Given the description of an element on the screen output the (x, y) to click on. 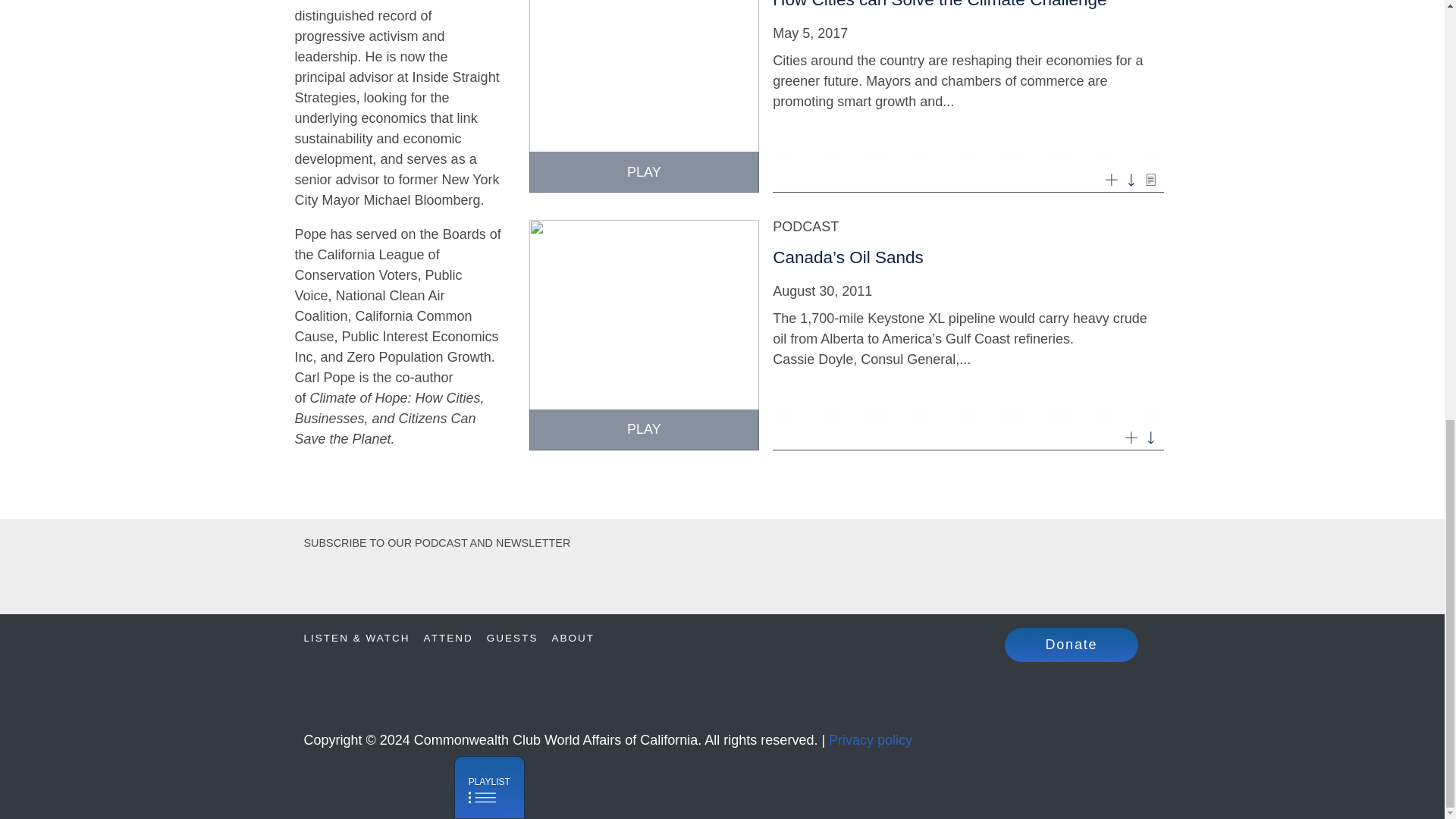
Download audio (1130, 178)
Download transcript as PDF (1150, 178)
Download audio (1150, 436)
Add to Playlist (1130, 436)
Add to Playlist (1111, 178)
